Given the description of an element on the screen output the (x, y) to click on. 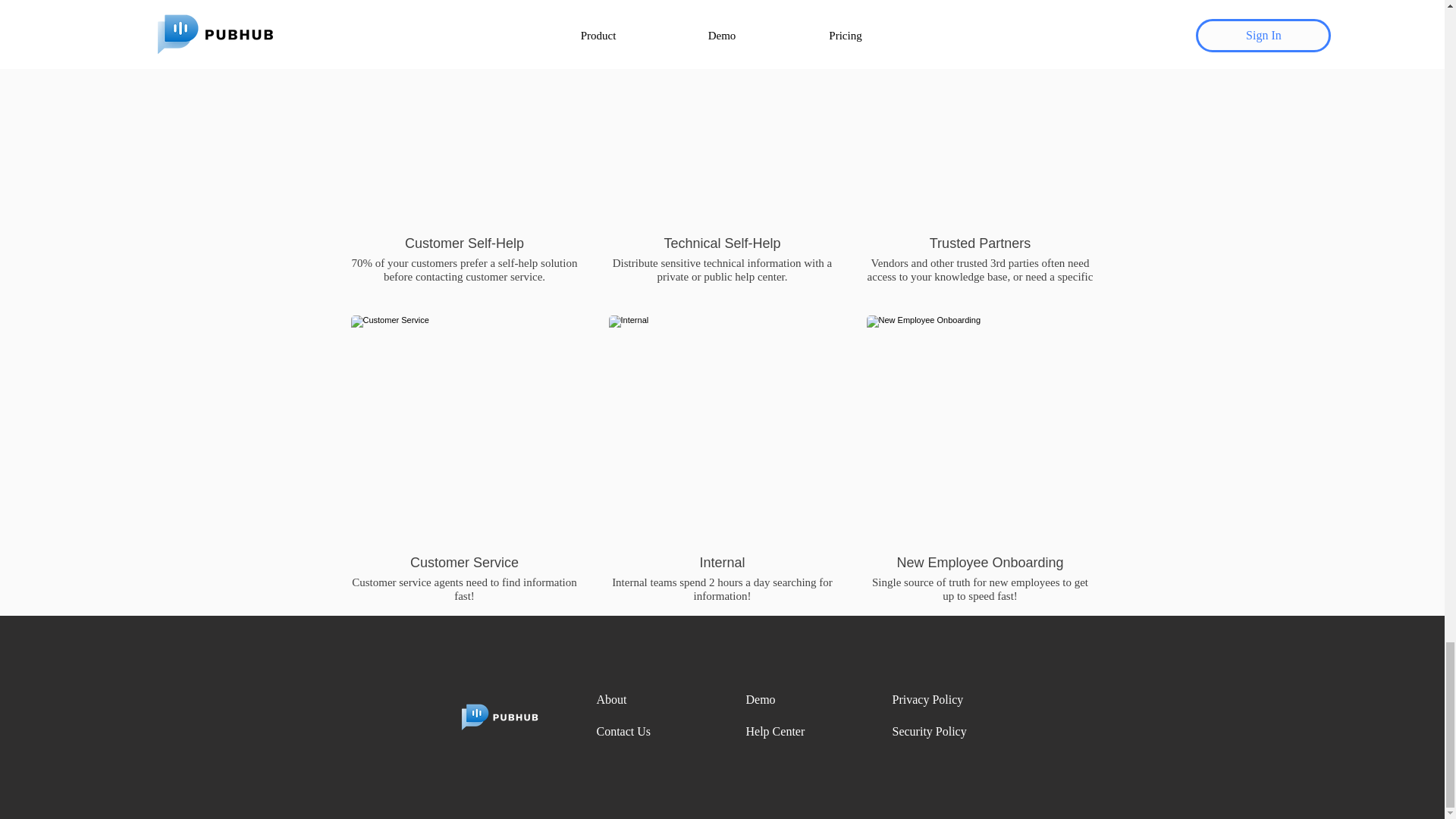
Contact Us (622, 730)
About (610, 698)
Security Policy (928, 730)
Help Center (775, 730)
Demo (760, 698)
Privacy Policy (926, 698)
